Given the description of an element on the screen output the (x, y) to click on. 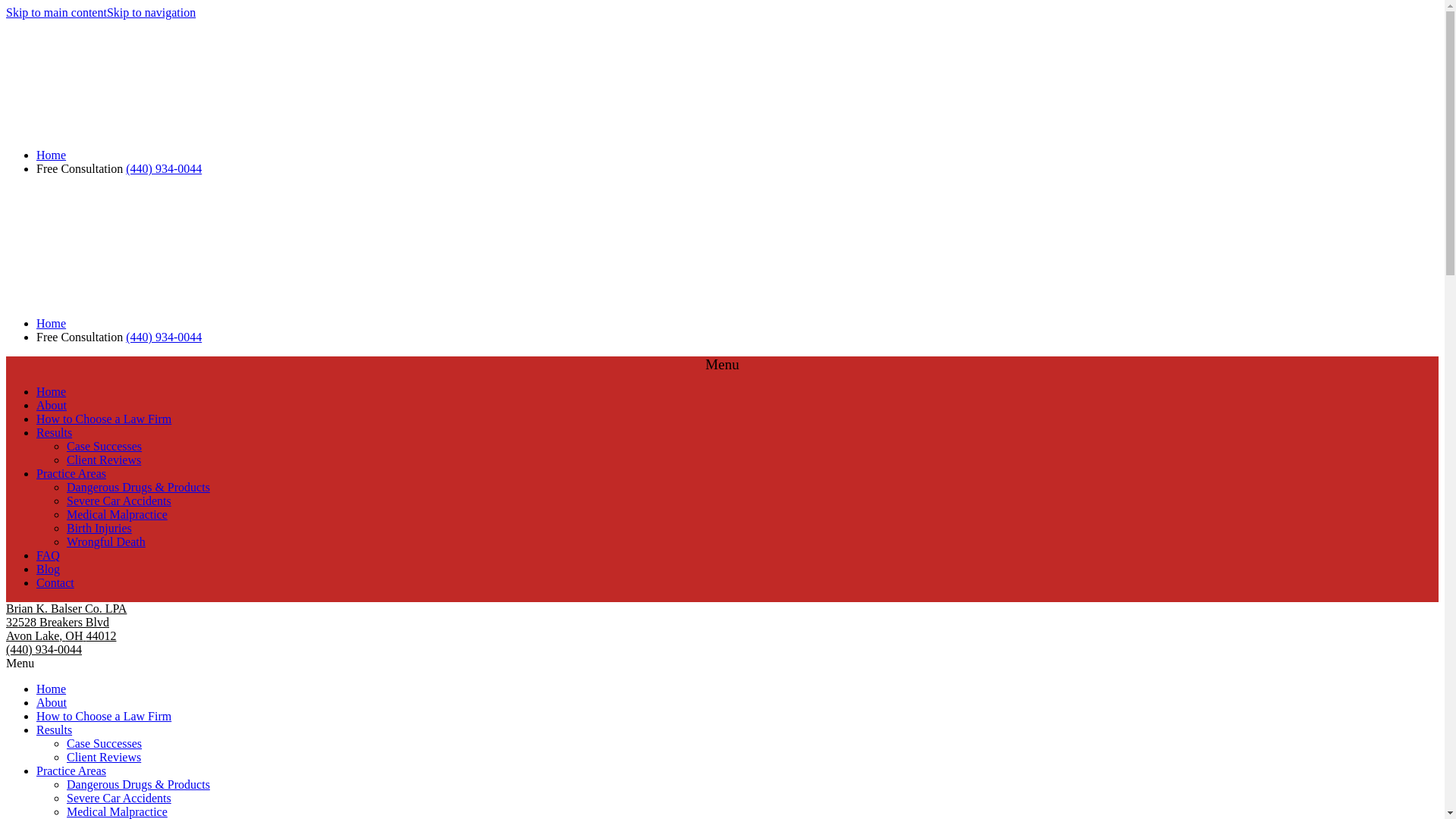
About (51, 702)
About (51, 404)
Practice Areas (71, 472)
How to Choose a Law Firm (103, 716)
Severe Car Accidents (118, 500)
Practice Areas (71, 770)
Birth Injuries (99, 527)
Results (53, 431)
Medical Malpractice (116, 811)
Case Successes (103, 445)
